Given the description of an element on the screen output the (x, y) to click on. 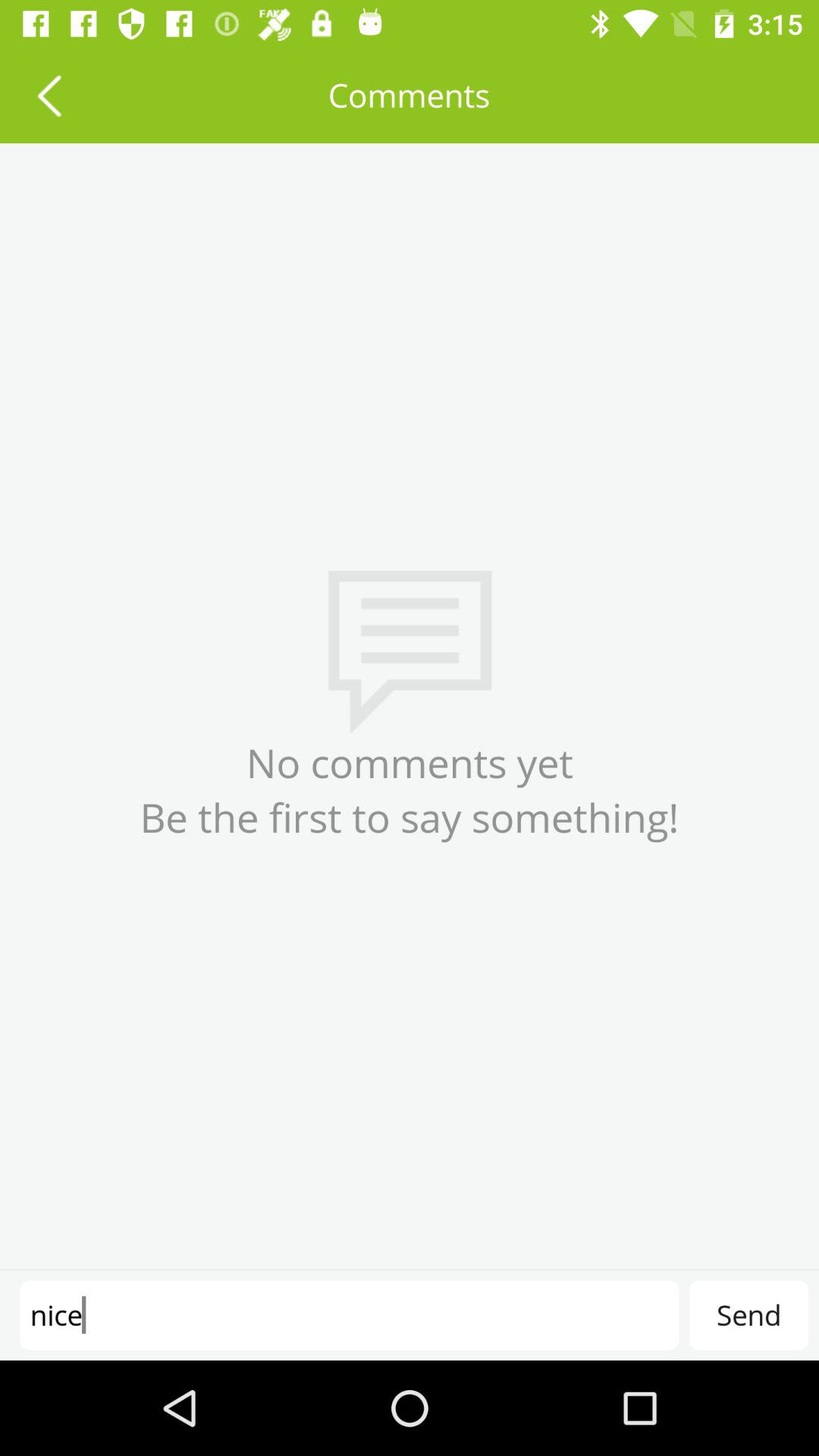
tap item next to the nice (748, 1315)
